Given the description of an element on the screen output the (x, y) to click on. 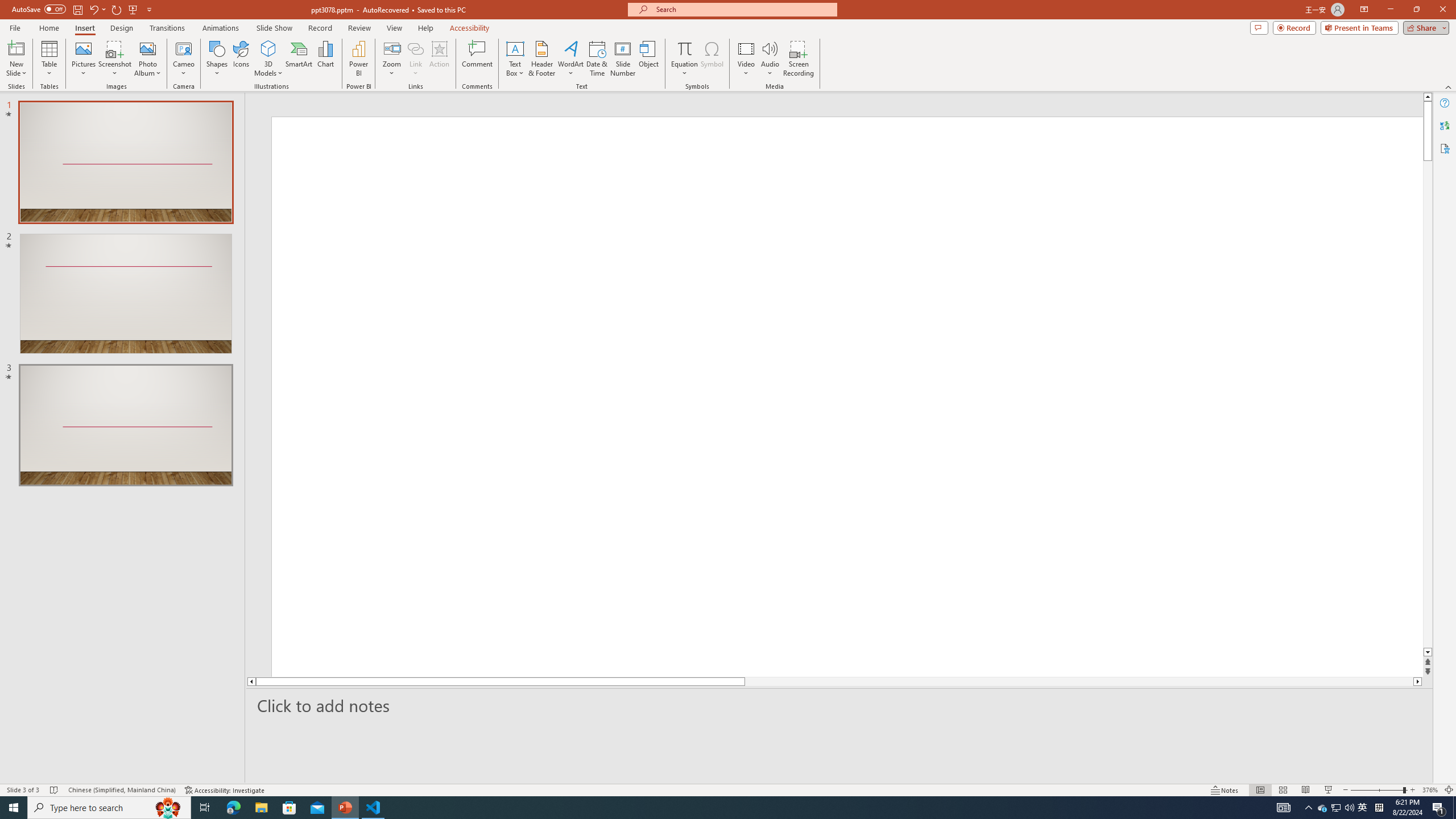
Comment (476, 58)
Video (745, 58)
Draw Horizontal Text Box (515, 48)
